Given the description of an element on the screen output the (x, y) to click on. 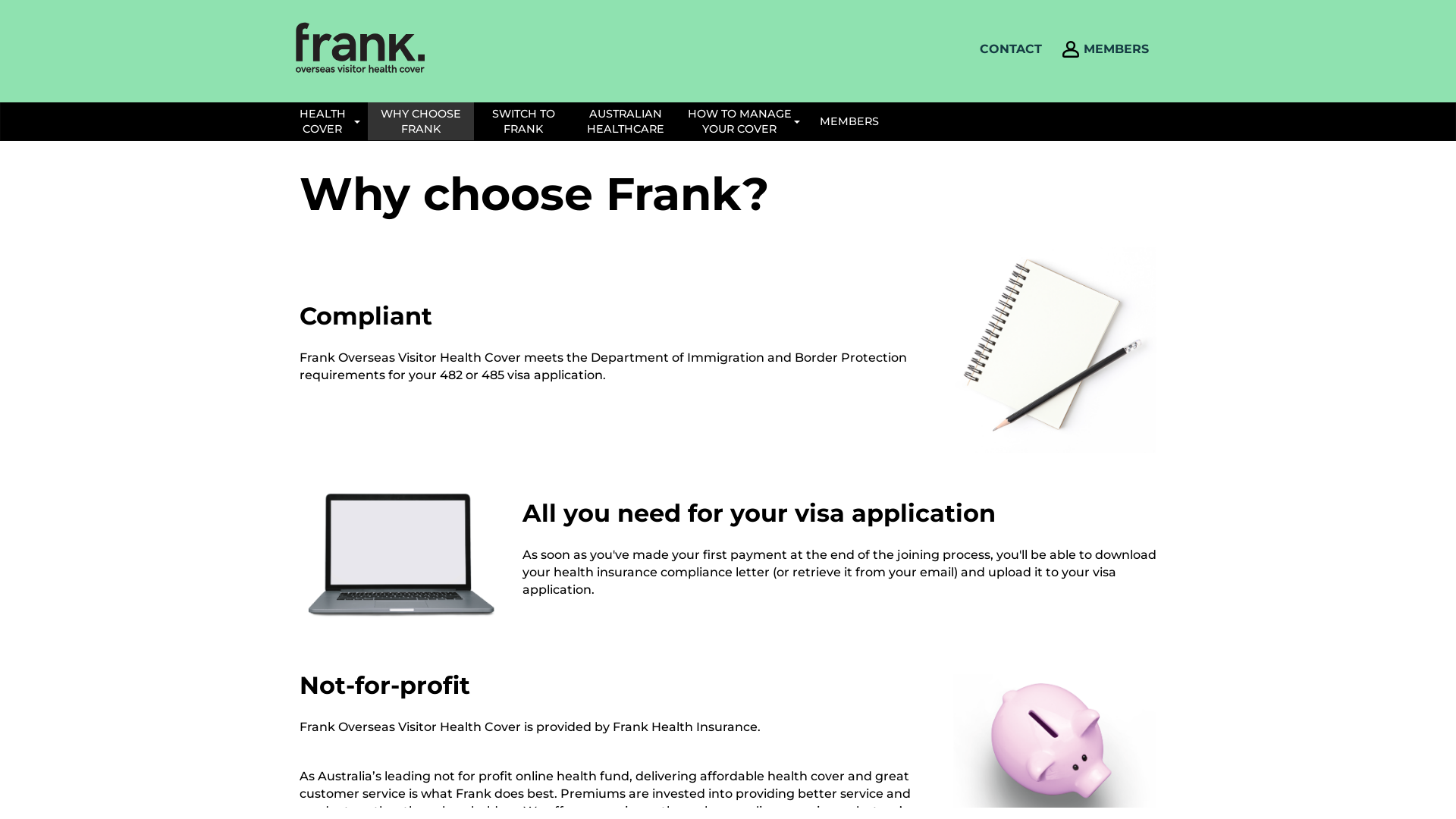
AUSTRALIAN HEALTHCARE Element type: text (625, 121)
WHY CHOOSE FRANK Element type: text (420, 121)
Frank Health Insurance Element type: text (359, 47)
MEMBERS Element type: text (849, 121)
CONTACT Element type: text (1010, 49)
HOW TO MANAGE YOUR COVER Element type: text (742, 121)
MEMBERS Element type: text (1115, 49)
SWITCH TO FRANK Element type: text (522, 121)
HEALTH COVER Element type: text (325, 121)
